Given the description of an element on the screen output the (x, y) to click on. 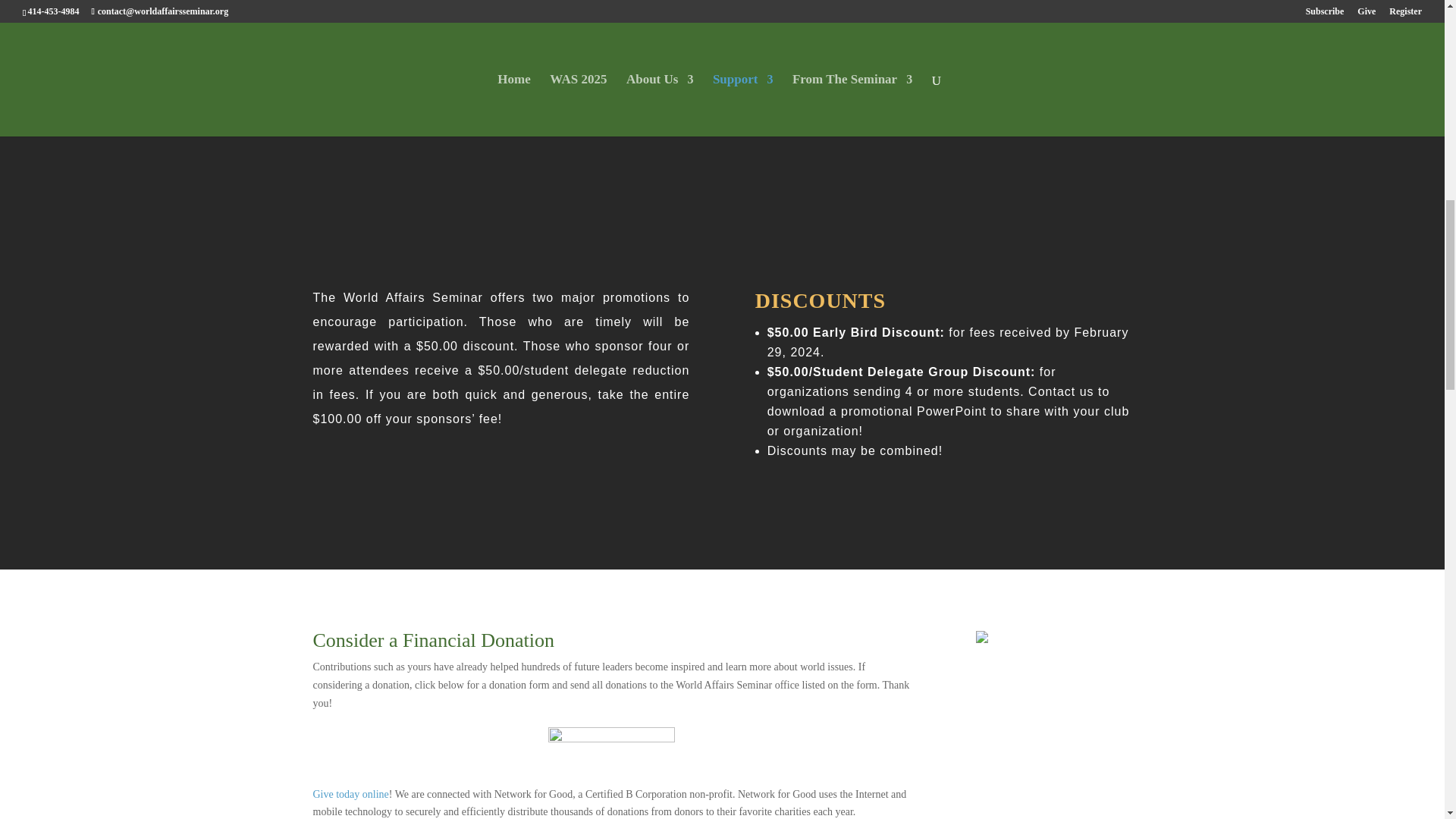
Give today online (350, 794)
